Given the description of an element on the screen output the (x, y) to click on. 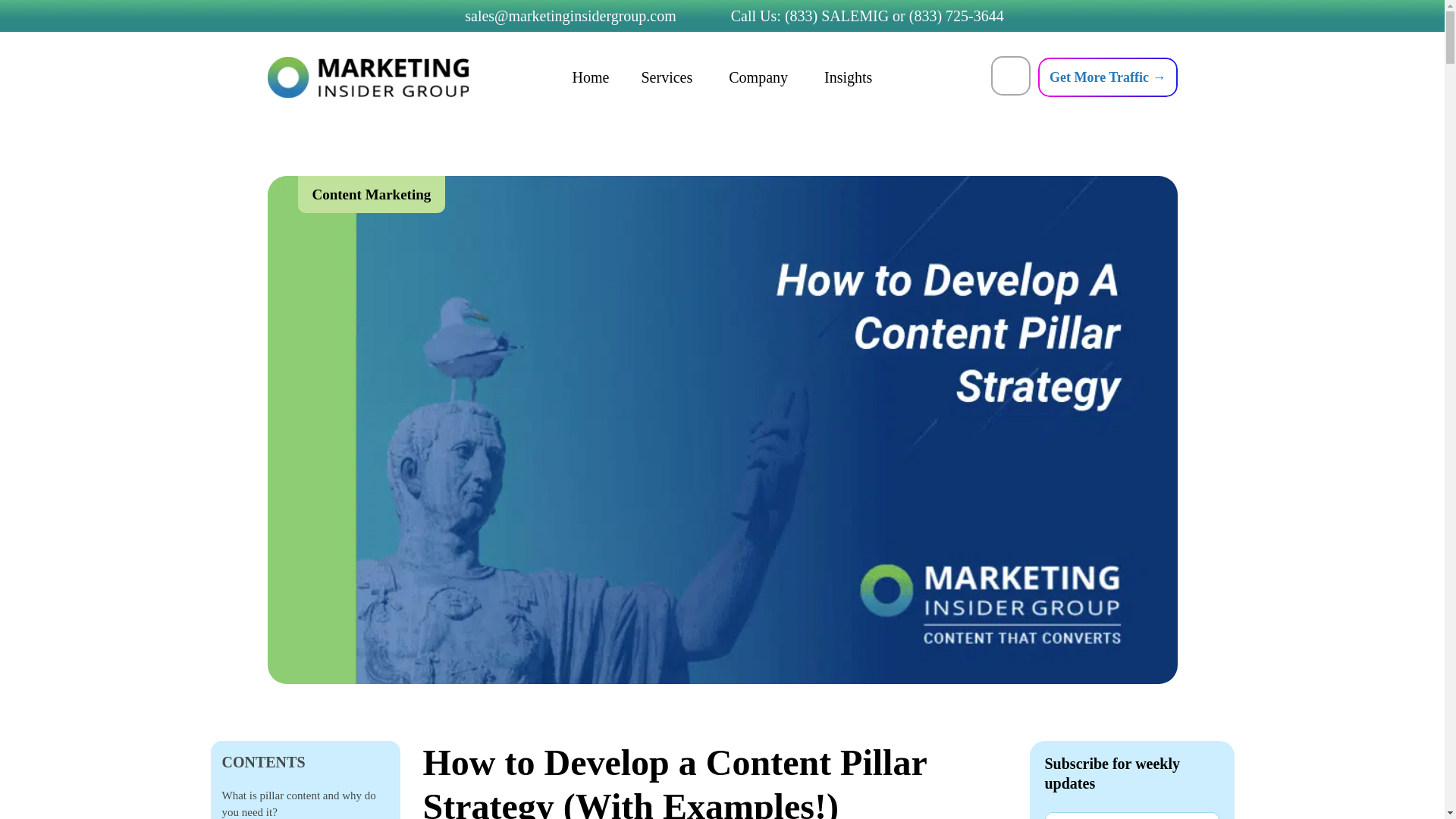
Insights (847, 76)
Home (590, 76)
Services (668, 76)
Company (759, 76)
